Given the description of an element on the screen output the (x, y) to click on. 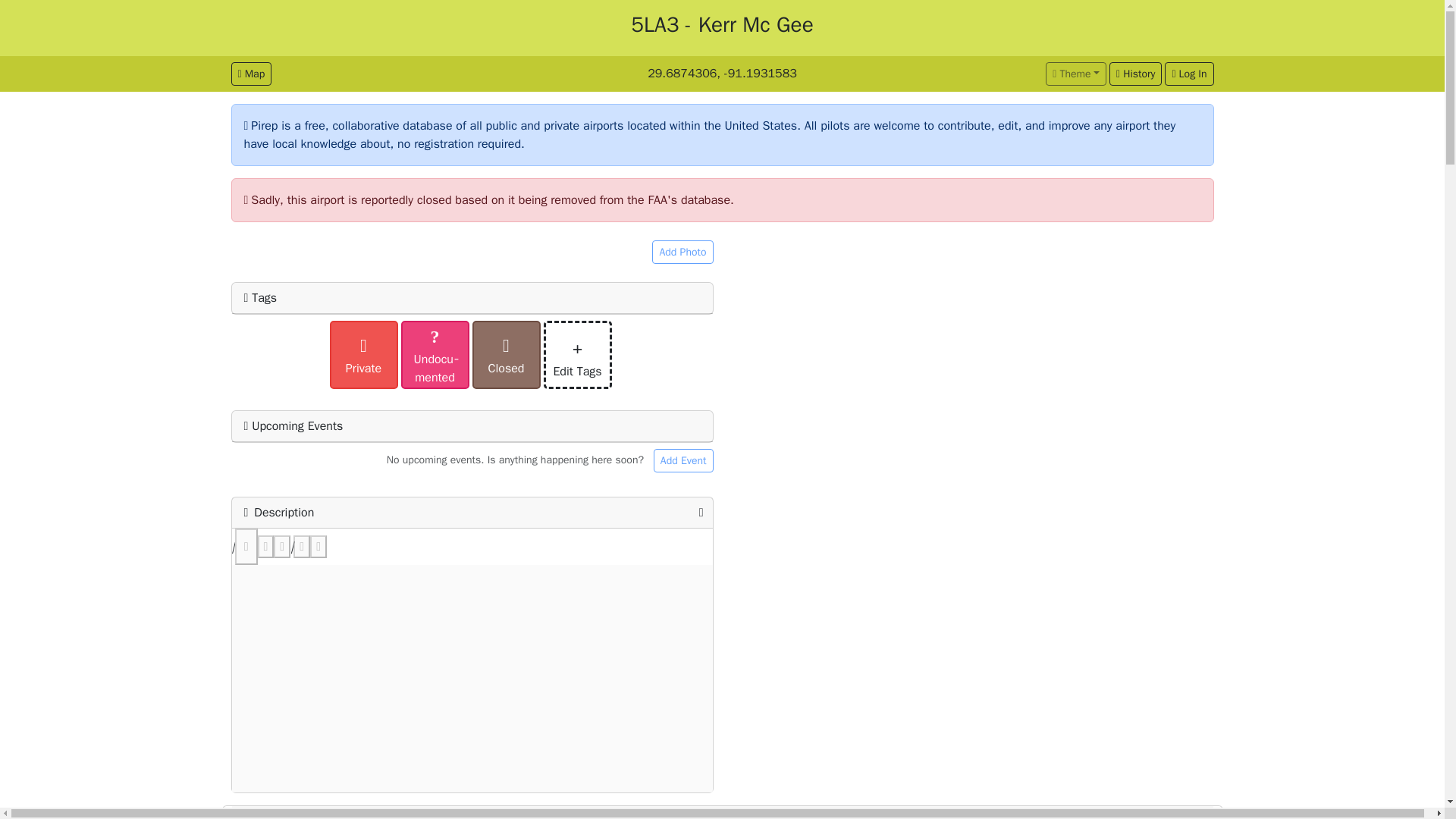
Log In (1188, 73)
History (1135, 73)
Add Photo (682, 251)
Map (250, 73)
Upload Photo (659, 301)
Add Event (683, 460)
Add Tags (472, 572)
Theme (1075, 73)
